Given the description of an element on the screen output the (x, y) to click on. 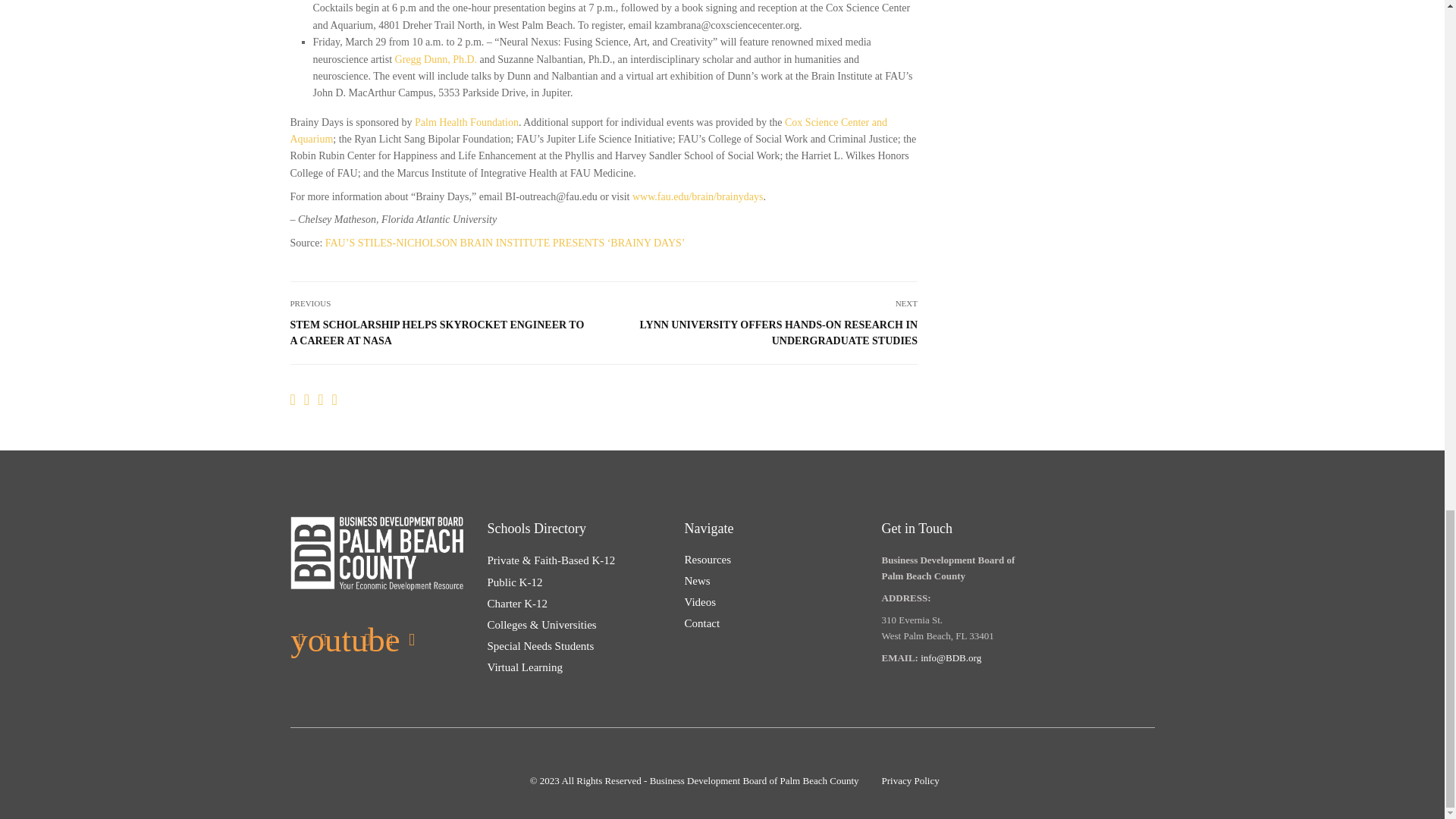
Palm Health Foundation (466, 122)
Gregg Dunn, Ph.D. (435, 59)
News (697, 580)
Cox Science Center and Aquarium (587, 130)
